Given the description of an element on the screen output the (x, y) to click on. 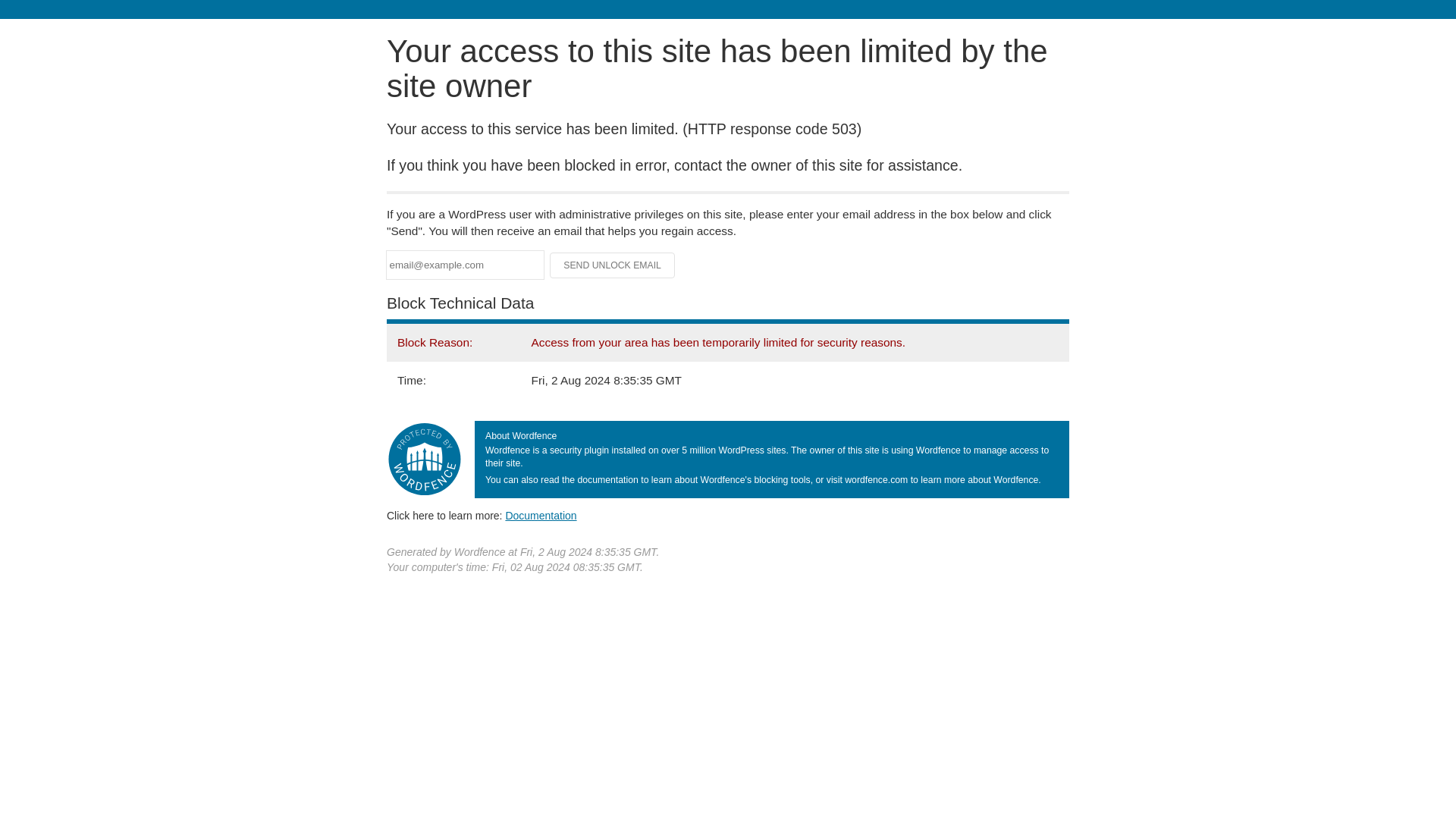
Documentation (540, 515)
Send Unlock Email (612, 265)
Send Unlock Email (612, 265)
